Given the description of an element on the screen output the (x, y) to click on. 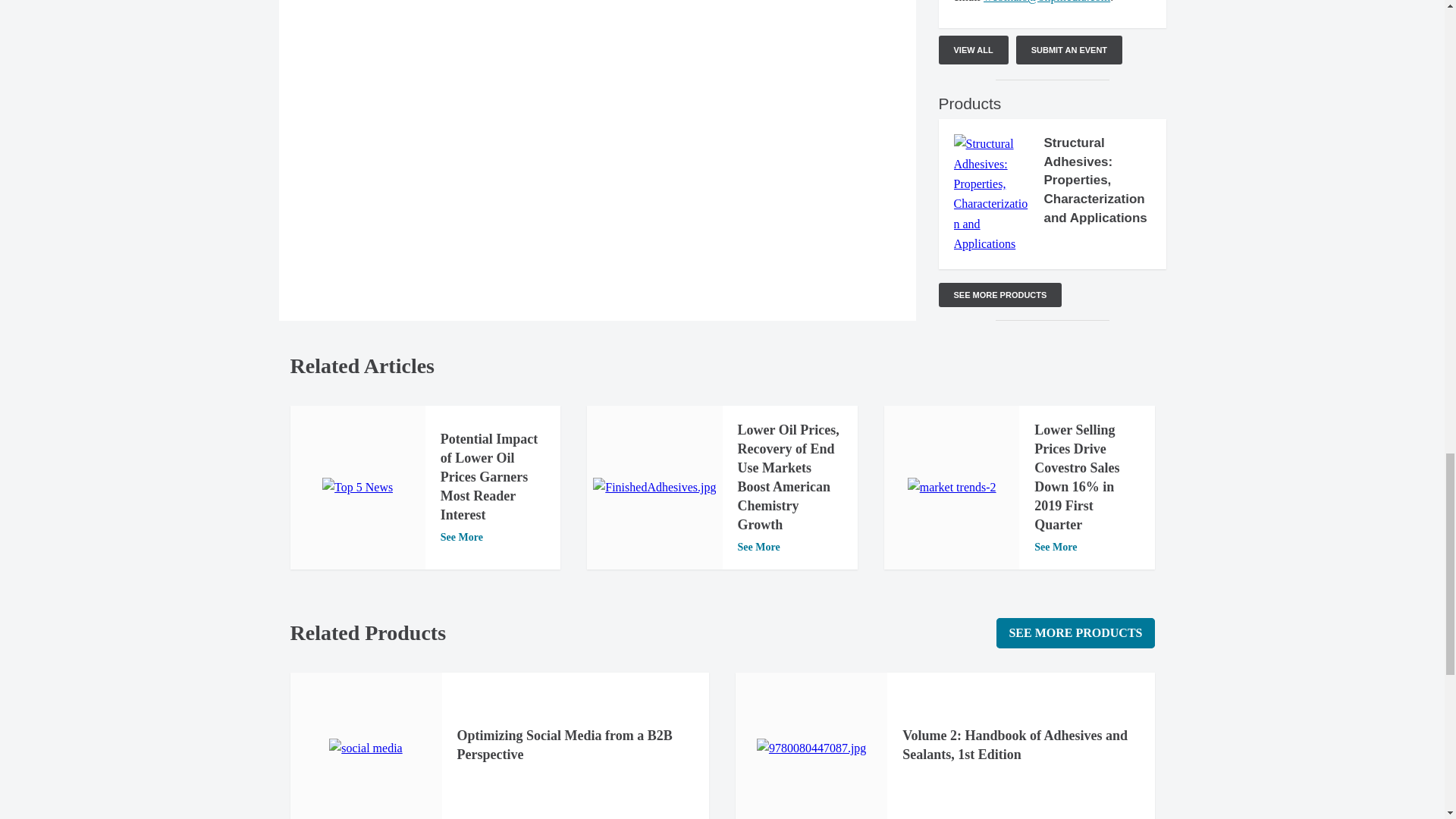
Top 5 News (357, 487)
9780080447087.jpg (811, 748)
FinishedAdhesives.jpg (654, 487)
market trends-2 (951, 487)
social media (365, 748)
